Given the description of an element on the screen output the (x, y) to click on. 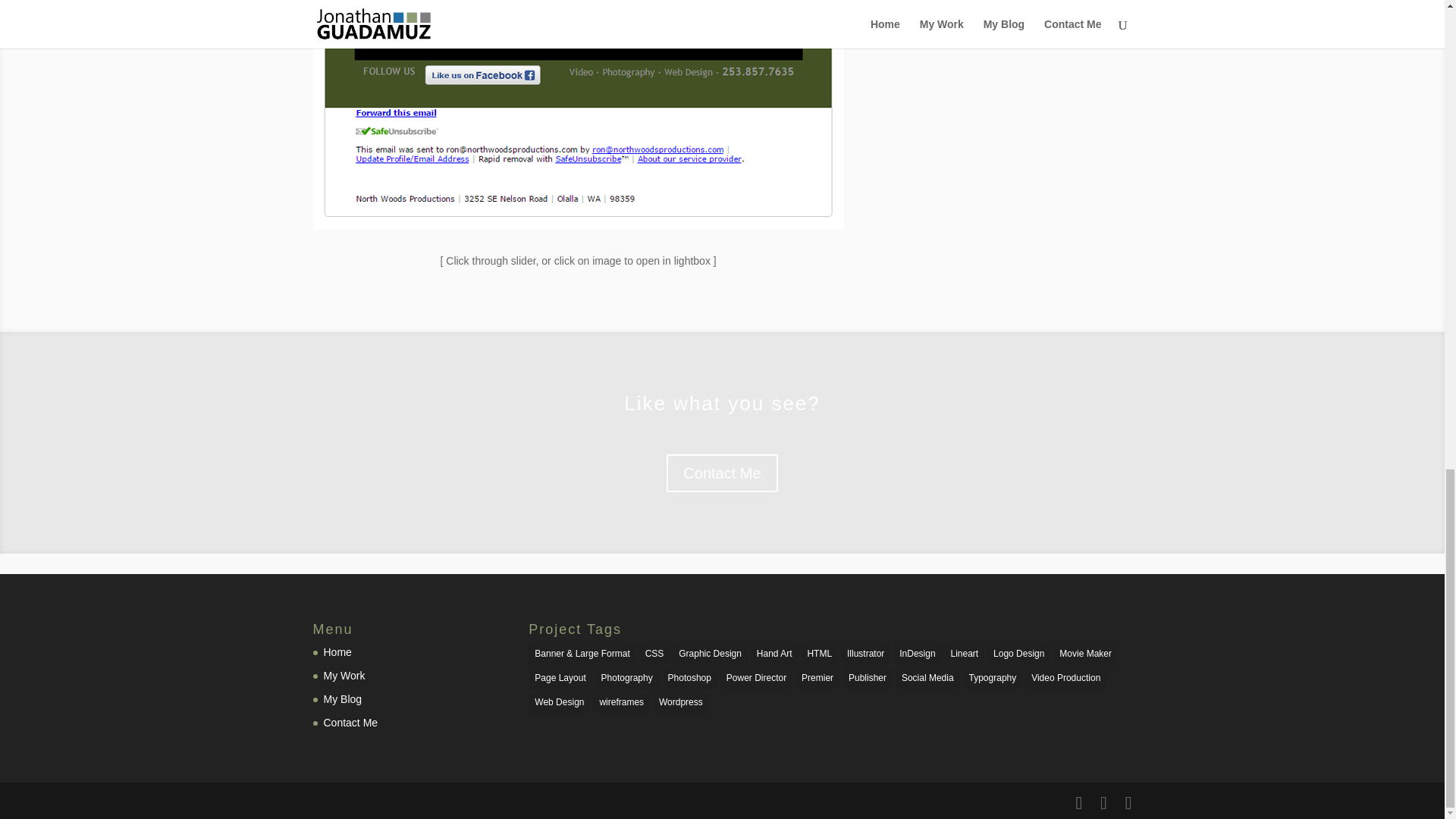
My Blog (342, 698)
Photoshop (689, 678)
Movie Maker (1085, 654)
Lineart (963, 654)
Wordpress (680, 702)
Publisher (867, 678)
Logo Design (1018, 654)
Illustrator (865, 654)
Premier (817, 678)
Web Design (558, 702)
My Work (344, 675)
HTML (819, 654)
Contact Me (350, 722)
Photography (627, 678)
Graphic Design (710, 654)
